Given the description of an element on the screen output the (x, y) to click on. 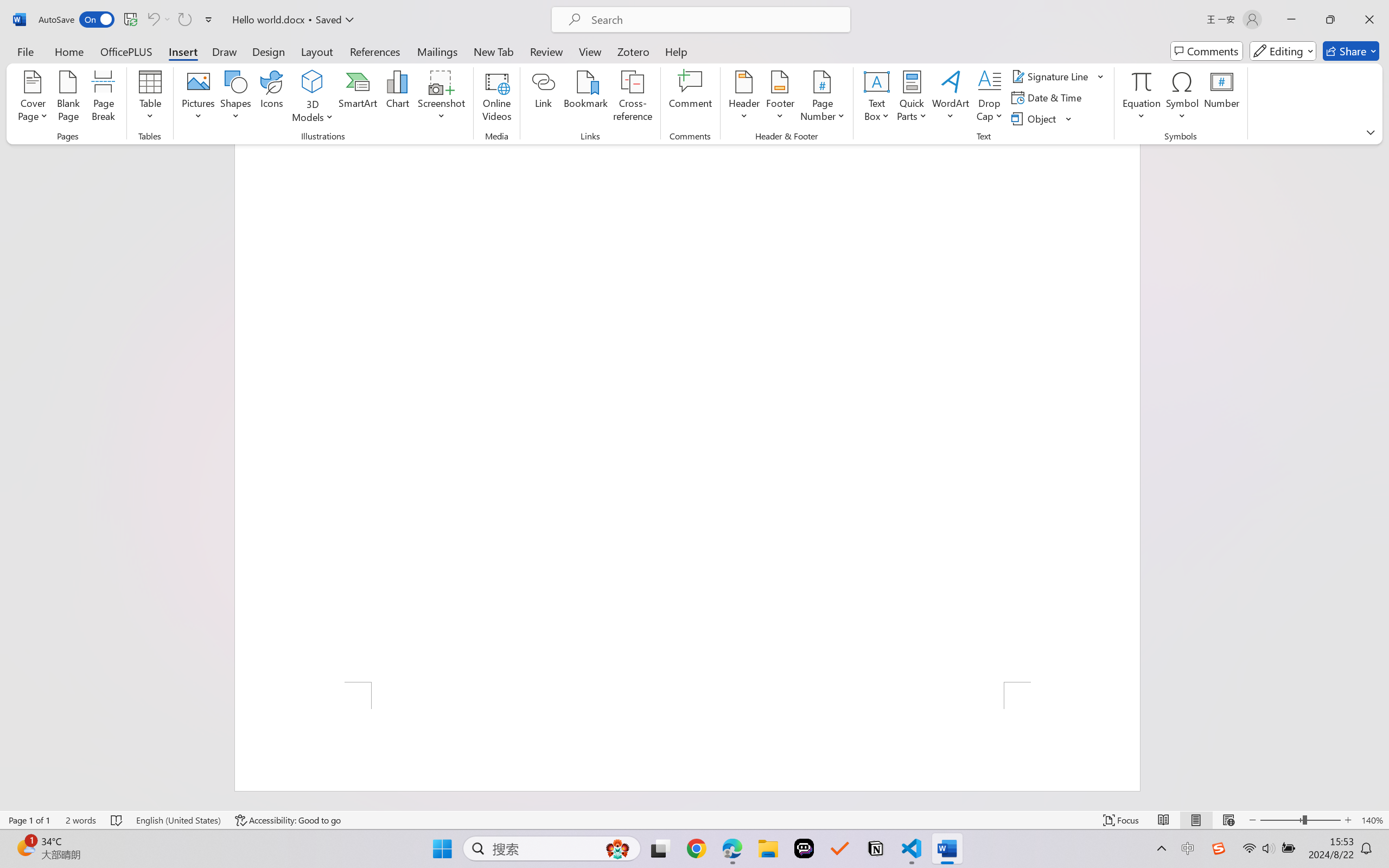
Zoom In (1348, 819)
Web Layout (1228, 819)
Page Number Page 1 of 1 (29, 819)
Spelling and Grammar Check No Errors (117, 819)
Draw (224, 51)
Comments (1206, 50)
Mode (1283, 50)
Poe (804, 848)
Zoom (1300, 819)
Print Layout (1196, 819)
Class: MsoCommandBar (694, 819)
Focus  (1121, 819)
Layout (316, 51)
Zoom 140% (1372, 819)
